Given the description of an element on the screen output the (x, y) to click on. 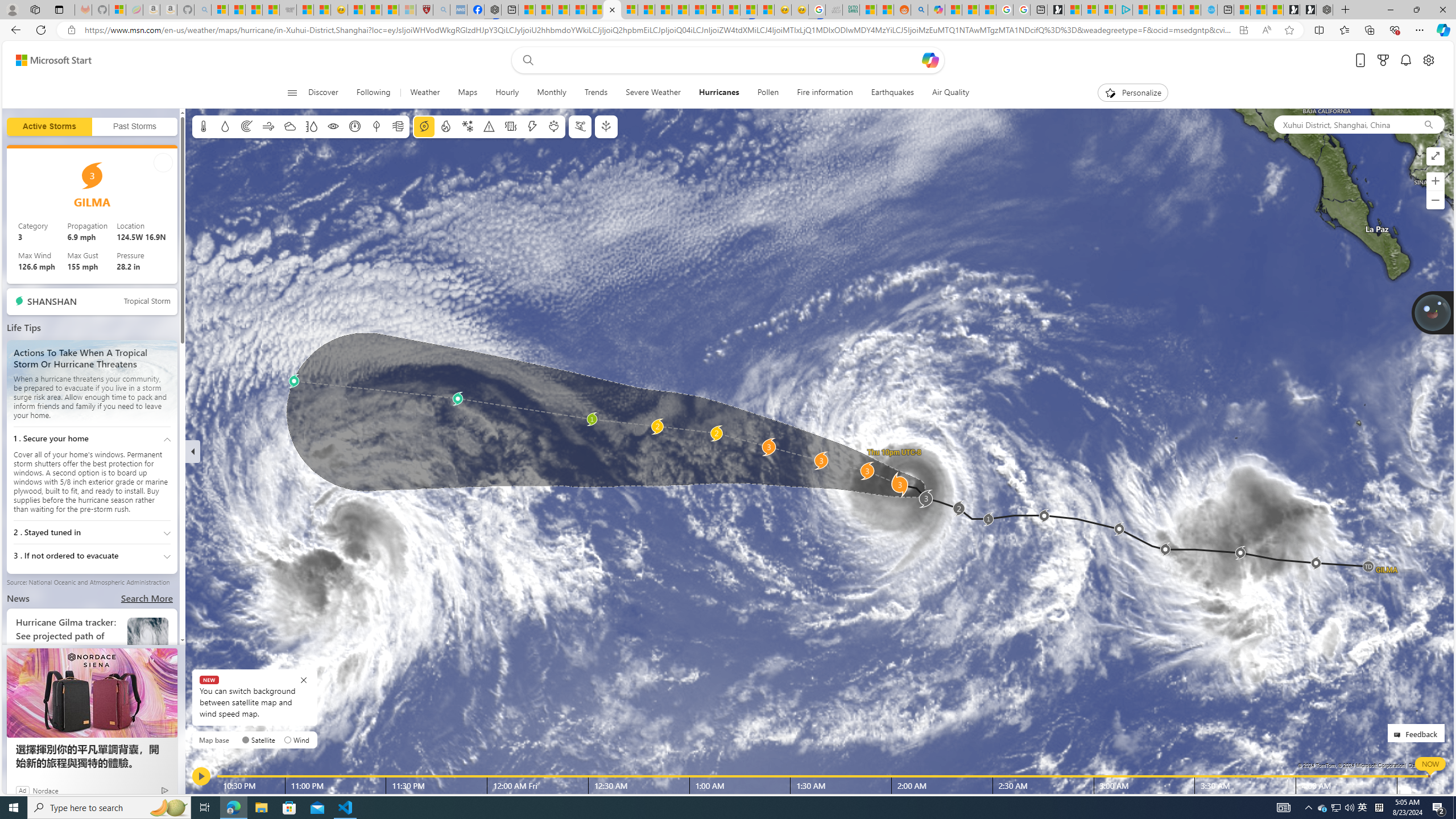
Temperature (203, 126)
Data Providers (1424, 765)
Severe Weather (653, 92)
Sea level pressure (355, 126)
